Given the description of an element on the screen output the (x, y) to click on. 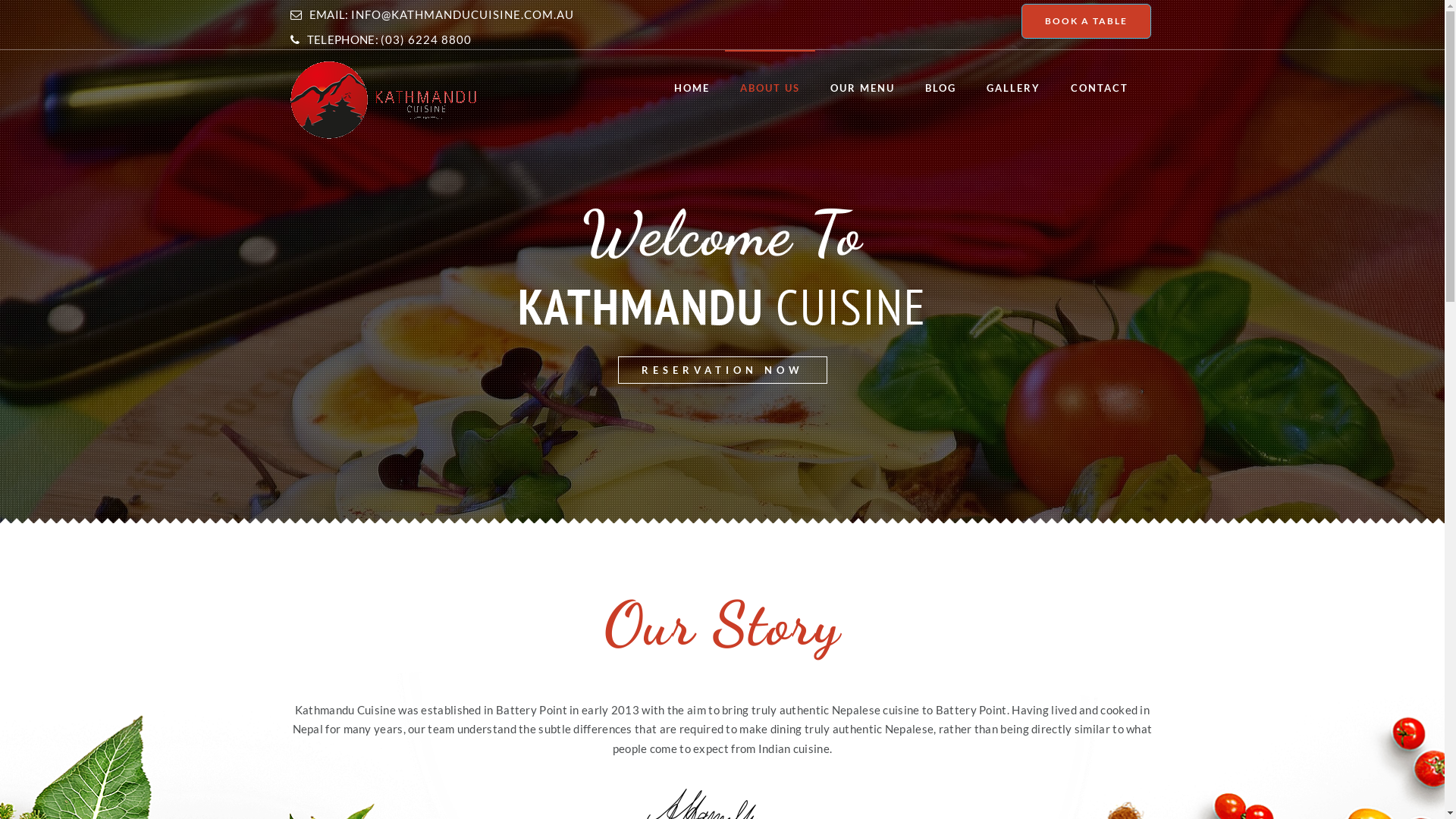
(03) 6224 8800 Element type: text (425, 38)
INFO@KATHMANDUCUISINE.COM.AU Element type: text (462, 14)
BOOK A TABLE Element type: text (1085, 20)
CONTACT Element type: text (1099, 87)
ABOUT US Element type: text (769, 87)
TODAYS MENU Element type: text (721, 369)
HOME Element type: text (691, 87)
OUR MENU Element type: text (861, 87)
BLOG Element type: text (940, 87)
GALLERY Element type: text (1012, 87)
